Given the description of an element on the screen output the (x, y) to click on. 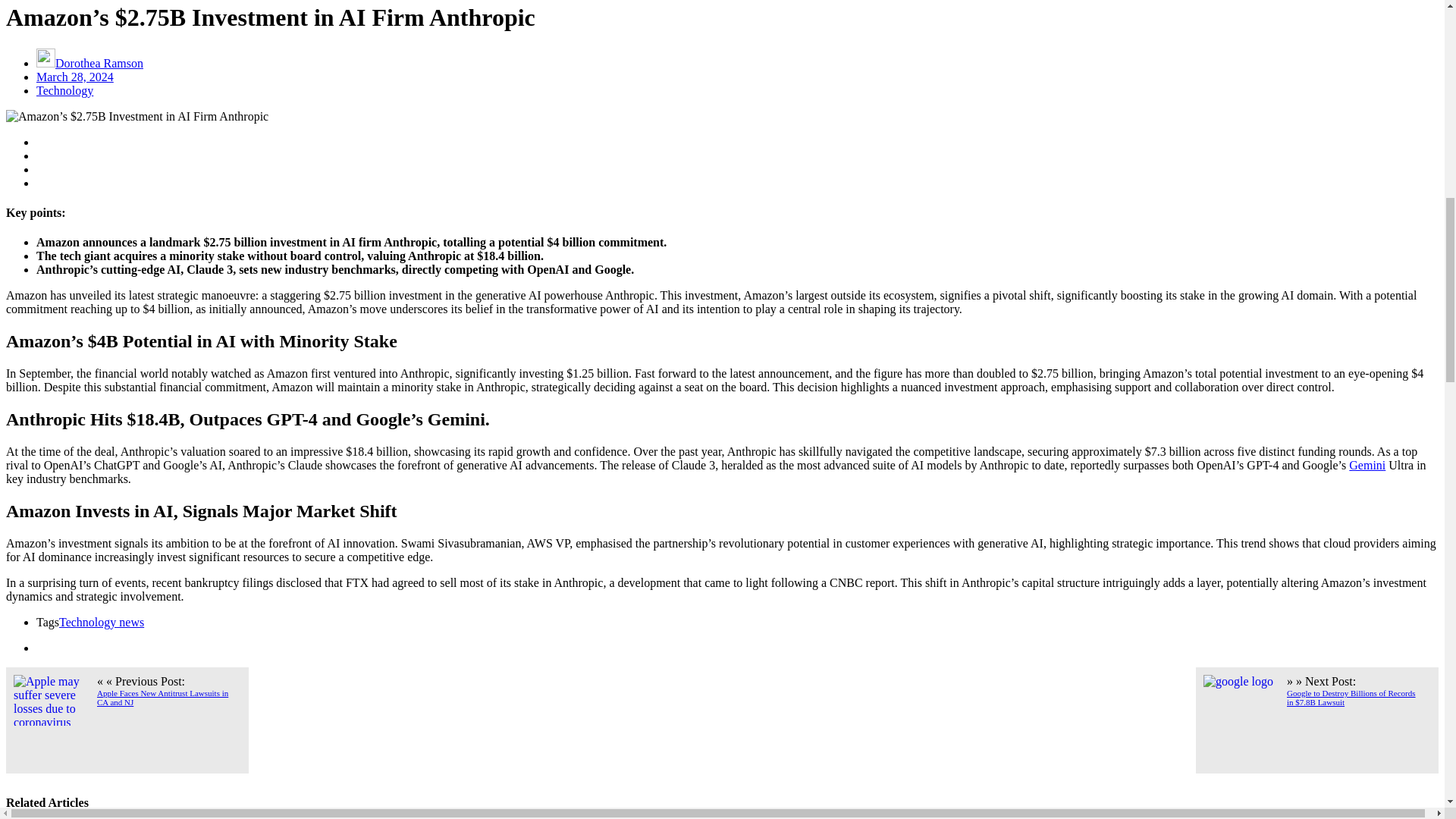
Dorothea Ramson (89, 62)
March 28, 2024 (74, 76)
Technology news (101, 621)
